Given the description of an element on the screen output the (x, y) to click on. 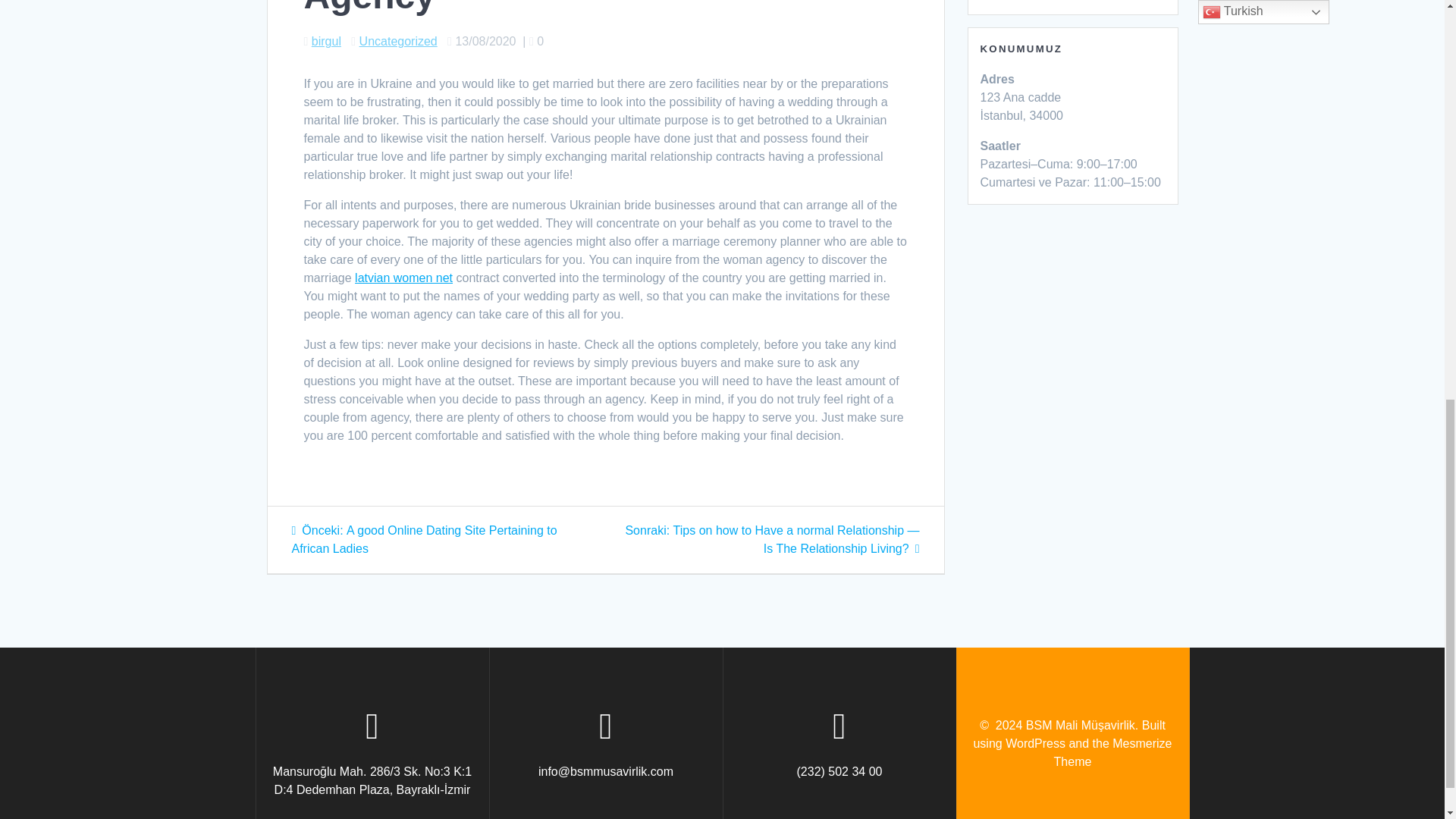
latvian women net (403, 277)
Uncategorized (398, 41)
birgul (325, 41)
Mesmerize Theme (1113, 752)
